Given the description of an element on the screen output the (x, y) to click on. 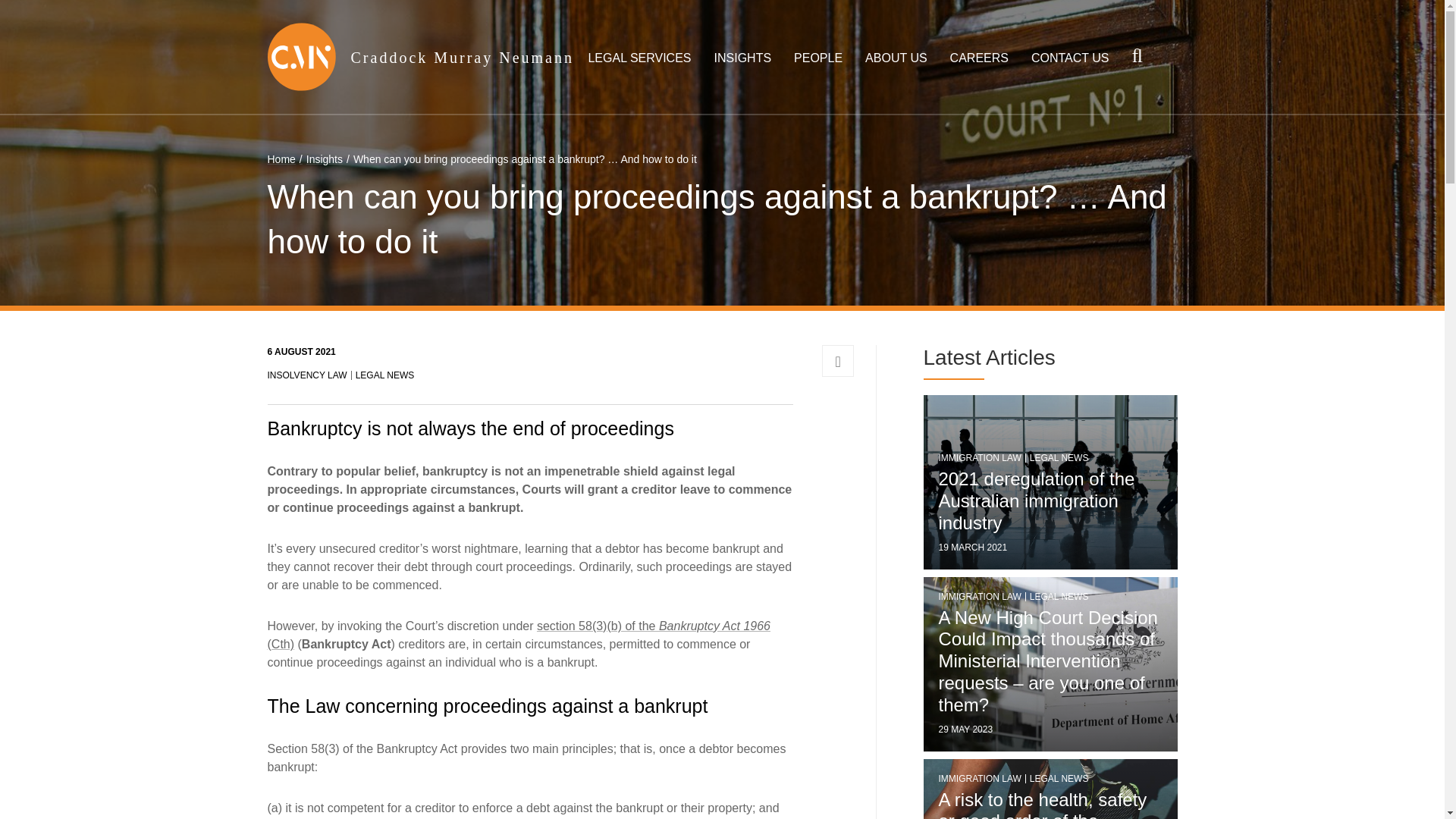
PEOPLE (818, 57)
INSIGHTS (742, 57)
CAREERS (979, 57)
CONTACT US (1069, 57)
ABOUT US (895, 57)
Insights (318, 159)
Craddock Murray Neumann (461, 56)
Home (280, 159)
LEGAL SERVICES (639, 57)
